Given the description of an element on the screen output the (x, y) to click on. 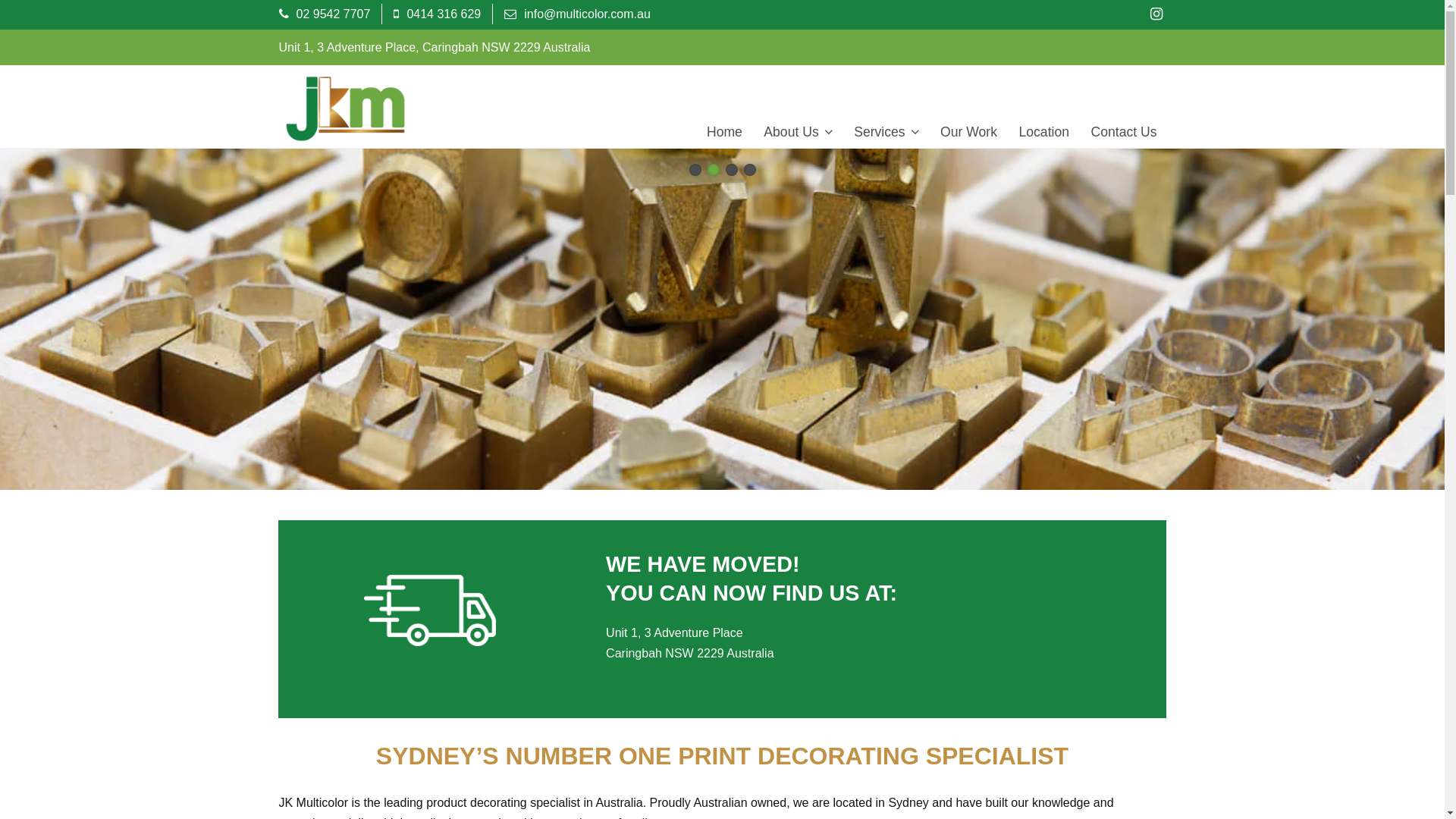
02 9542 7707 Element type: text (324, 13)
About Us Element type: text (797, 131)
Home Element type: text (724, 131)
Contact Us Element type: text (1123, 131)
3 Element type: text (730, 169)
Location Element type: text (1043, 131)
Email Element type: hover (510, 13)
info@multicolor.com.au Element type: text (577, 13)
0414 316 629 Element type: text (436, 13)
2 Element type: text (712, 169)
4 Element type: text (749, 169)
Our Work Element type: text (968, 131)
Phone Element type: hover (283, 13)
Services Element type: text (885, 131)
Back to JK Multicolor homepage Element type: hover (345, 109)
1 Element type: text (694, 169)
Mobile Element type: hover (395, 13)
Follow us on Instagram Element type: hover (1156, 13)
